Given the description of an element on the screen output the (x, y) to click on. 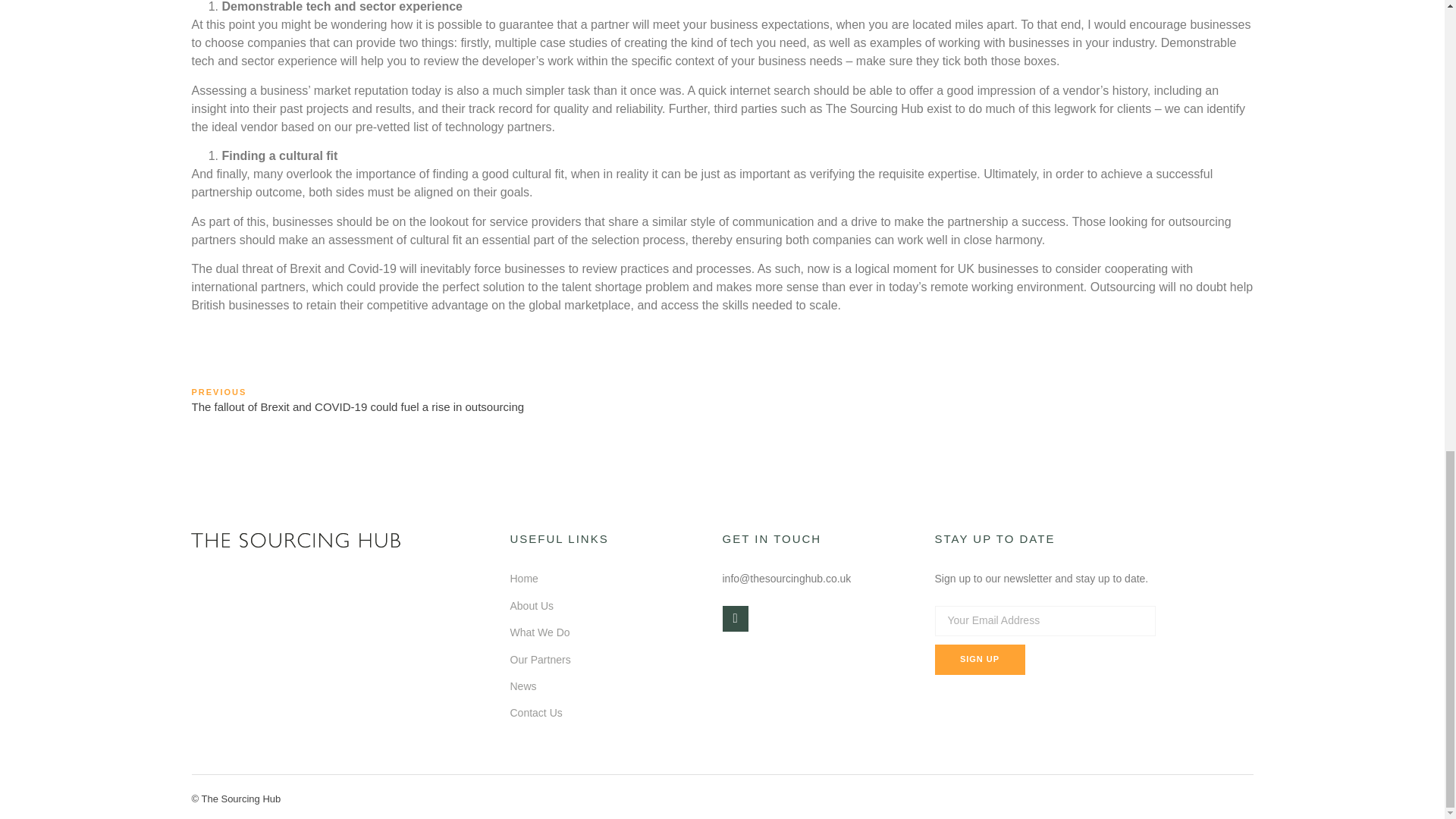
Our Partners (539, 659)
What We Do (539, 632)
Home (523, 578)
SIGN UP (979, 659)
About Us (531, 605)
News (522, 686)
Contact Us (535, 712)
